Given the description of an element on the screen output the (x, y) to click on. 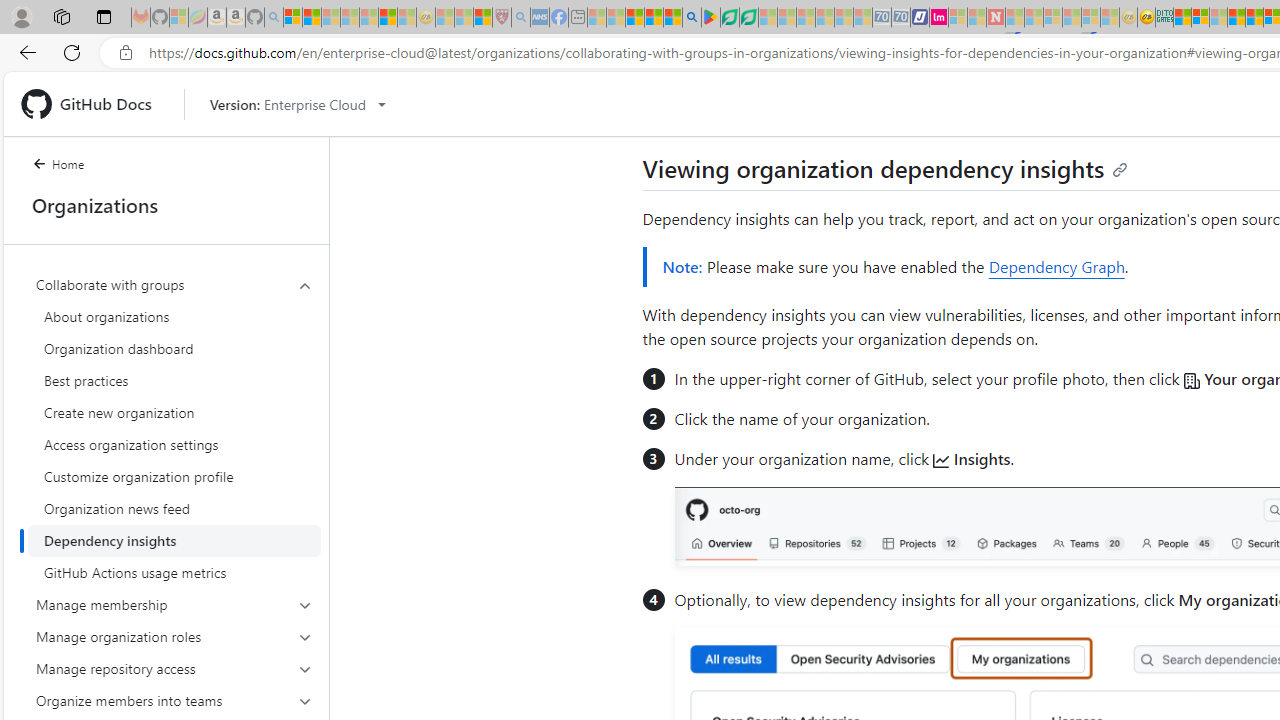
Manage organization roles (174, 636)
Kinda Frugal - MSN (1254, 17)
Customize organization profile (174, 476)
Microsoft Word - consumer-privacy address update 2.2021 (748, 17)
Jobs - lastminute.com Investor Portal (939, 17)
